Given the description of an element on the screen output the (x, y) to click on. 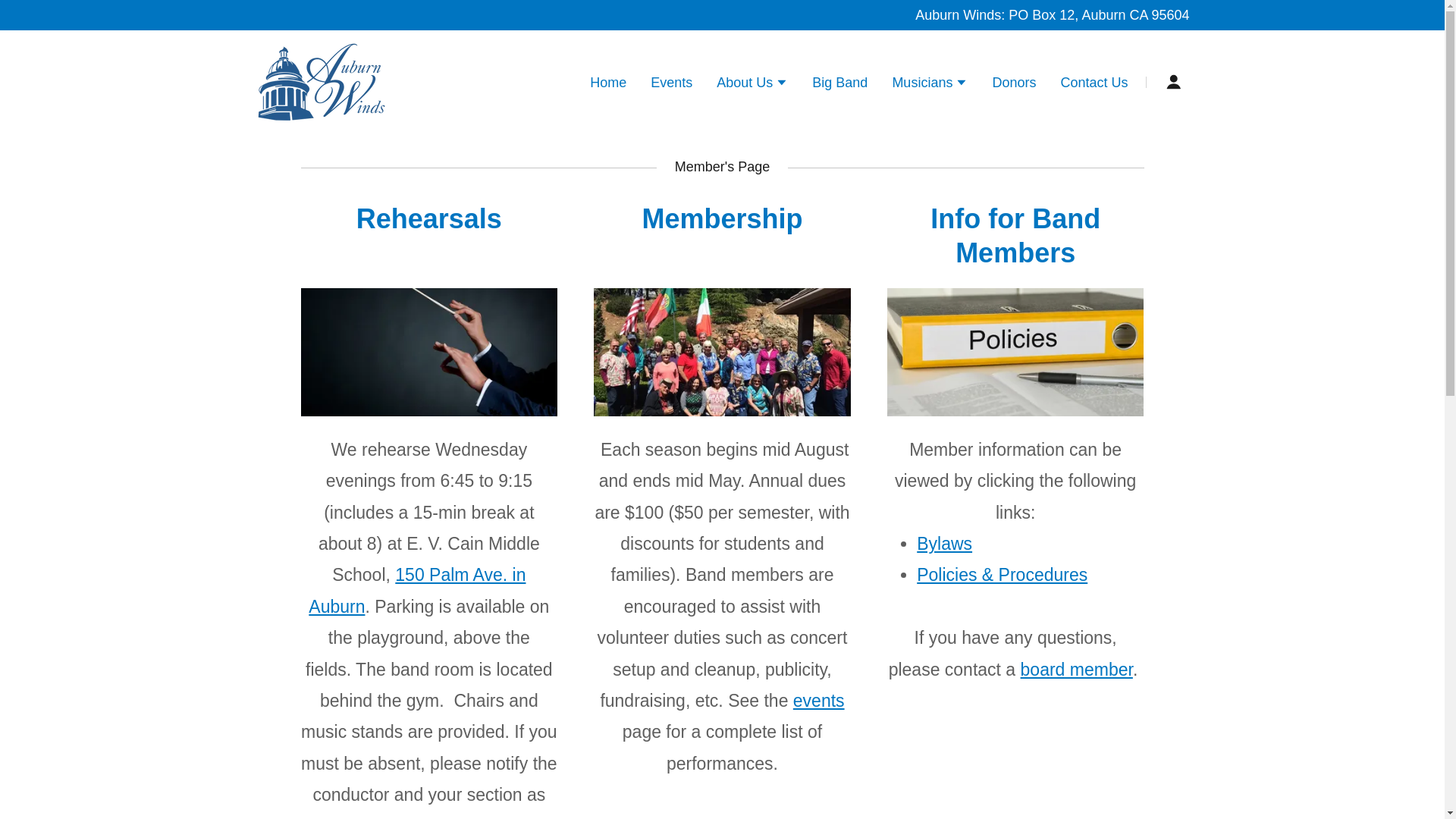
Auburn Winds (320, 80)
Contact Us (1093, 81)
95604 (1170, 14)
Big Band (840, 81)
Home (607, 81)
Events (671, 81)
Auburn Winds: PO Box 12, Auburn CA (1033, 14)
Musicians (929, 84)
About Us (751, 84)
Donors (1014, 81)
